Given the description of an element on the screen output the (x, y) to click on. 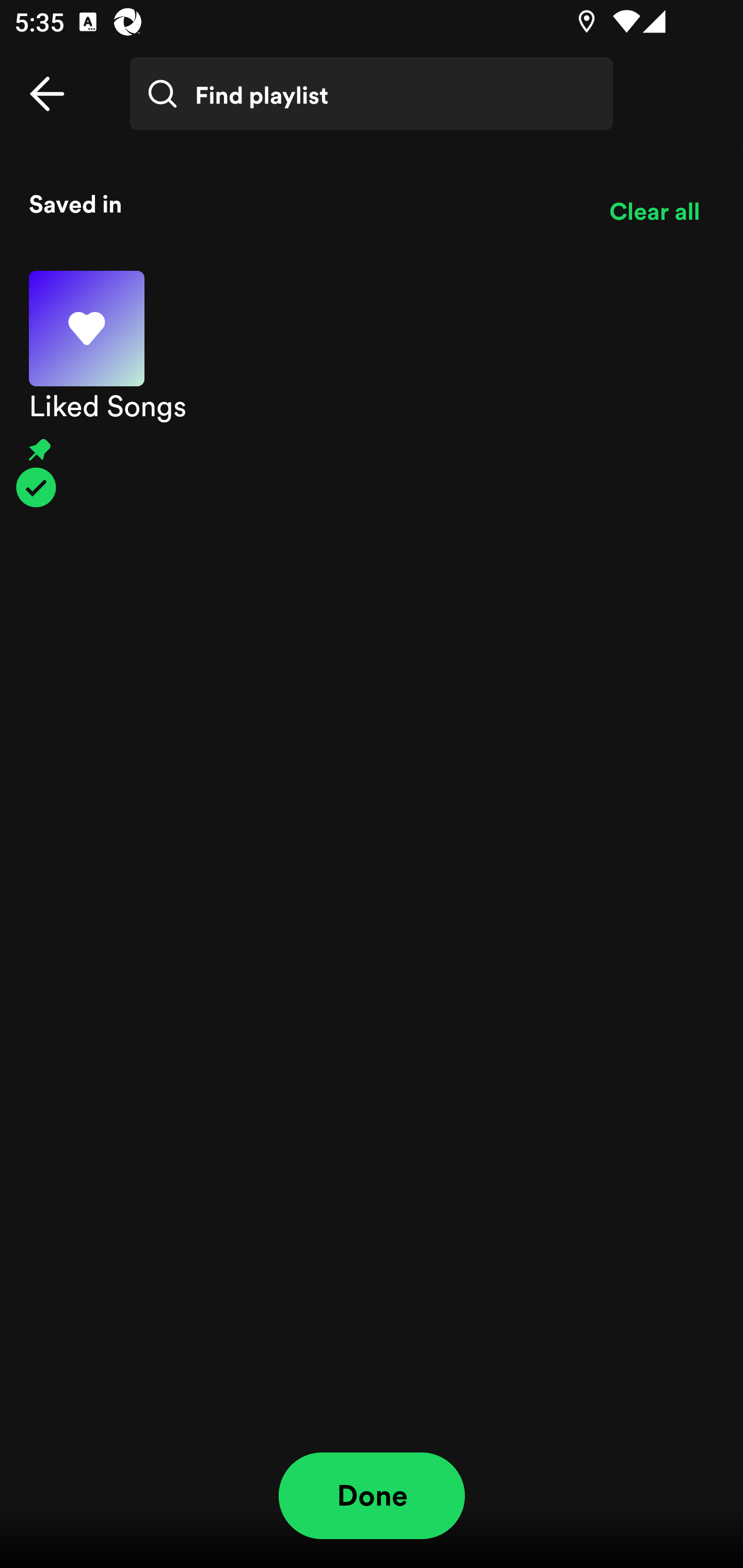
Back (46, 93)
Find playlist (371, 94)
Clear Find playlist (666, 108)
Saved in (304, 203)
Clear all (654, 211)
Liked Songs Pinned (371, 389)
Done (371, 1495)
